Given the description of an element on the screen output the (x, y) to click on. 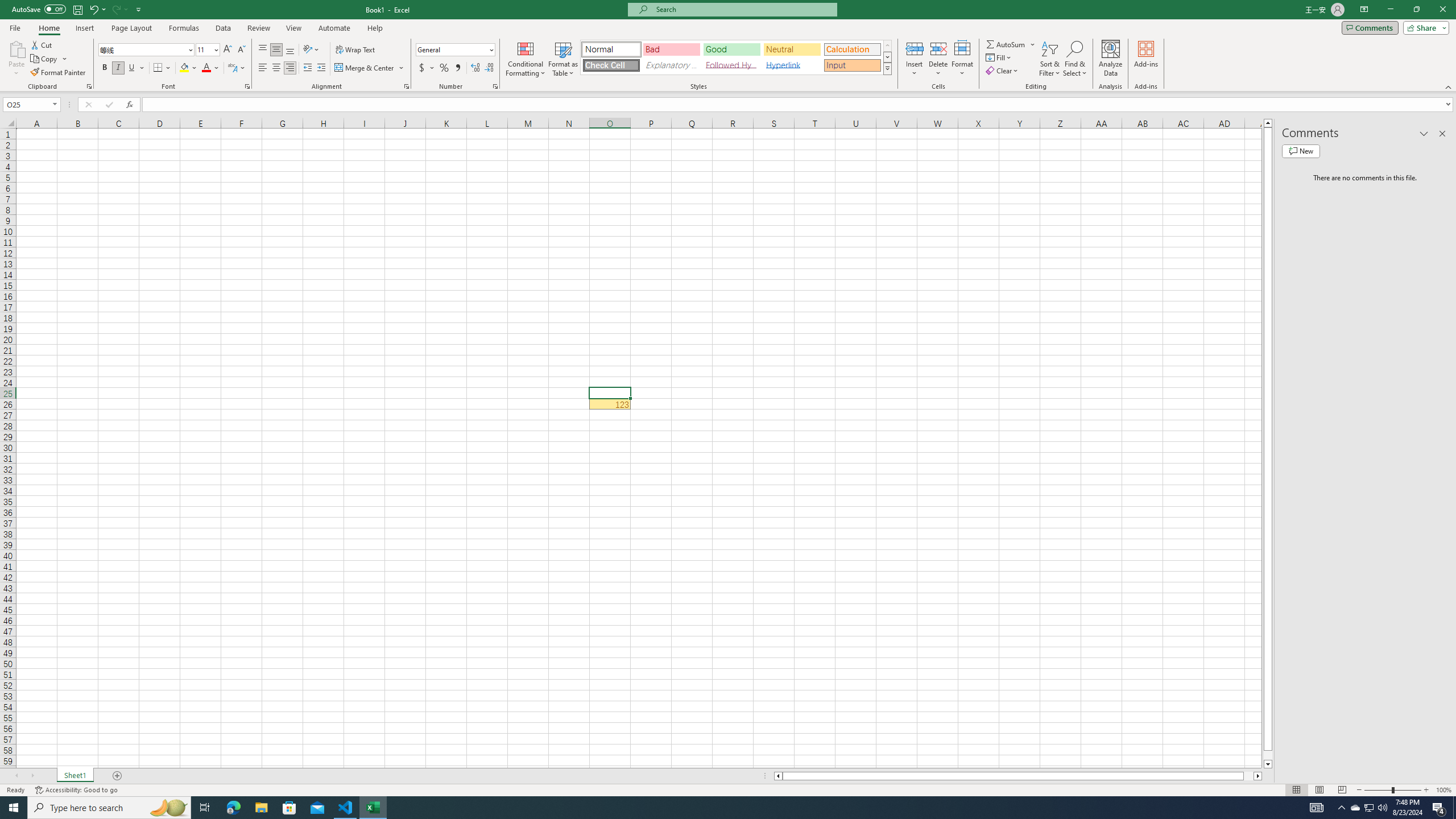
Bottom Align (290, 49)
Underline (136, 67)
Delete (938, 58)
Number Format (451, 49)
Copy (45, 58)
Calculation (852, 49)
Bad (671, 49)
Microsoft search (742, 9)
Font Color (210, 67)
Page down (1267, 755)
Format Cell Alignment (405, 85)
Hyperlink (791, 65)
AutomationID: CellStylesGallery (736, 57)
AutoSum (1011, 44)
